Given the description of an element on the screen output the (x, y) to click on. 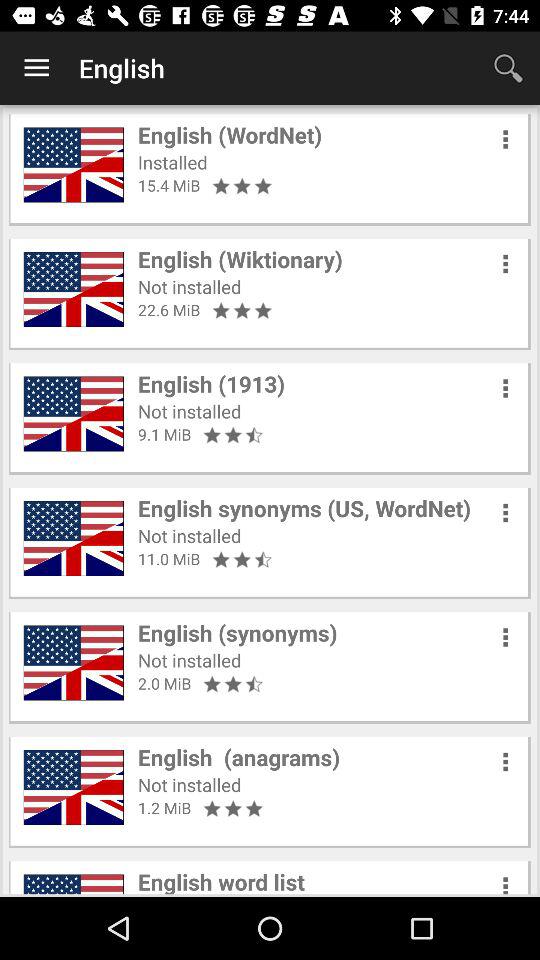
flip until the english (1913) item (211, 383)
